Given the description of an element on the screen output the (x, y) to click on. 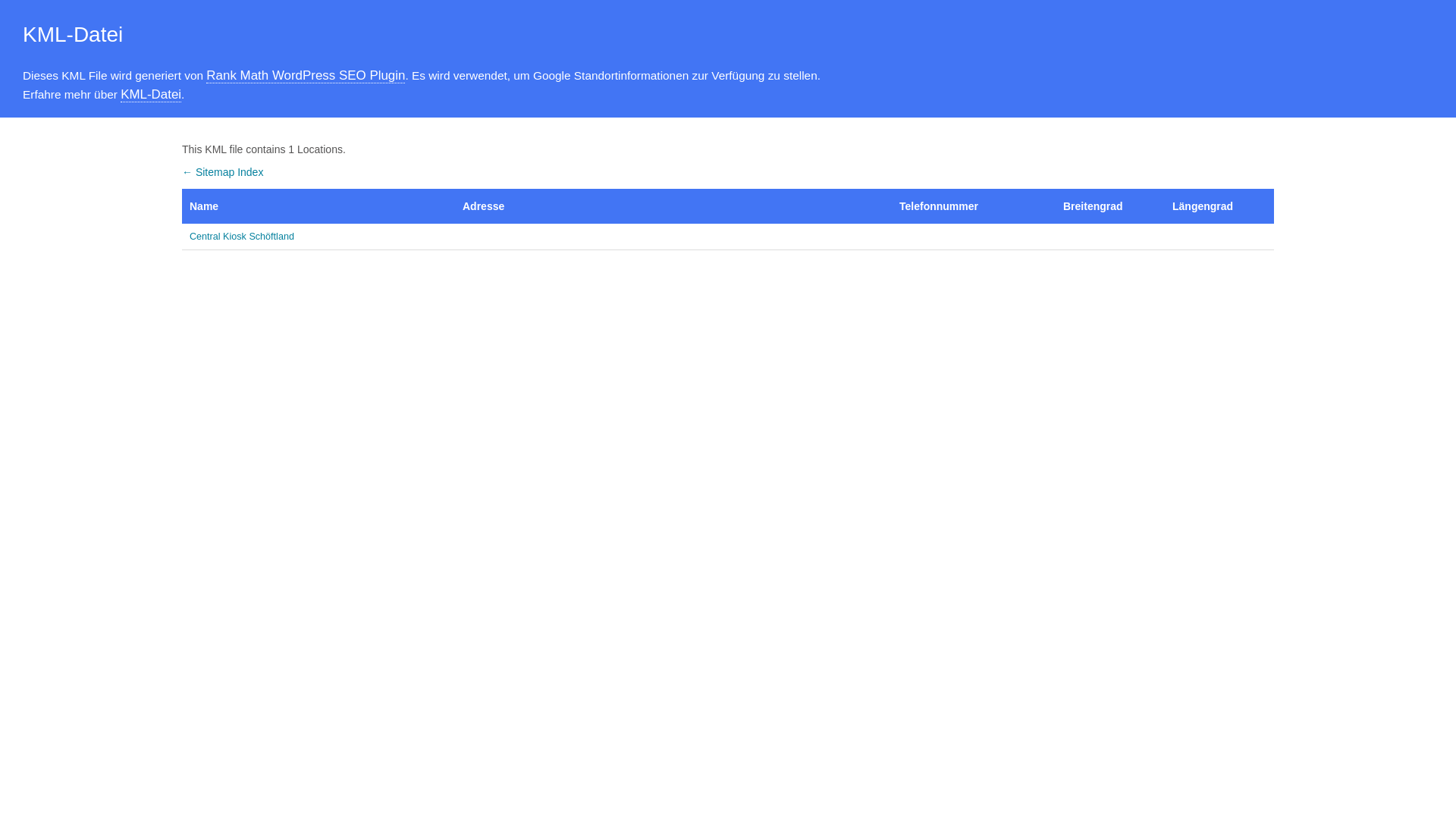
KML-Datei Element type: text (150, 94)
Rank Math WordPress SEO Plugin Element type: text (305, 75)
